Given the description of an element on the screen output the (x, y) to click on. 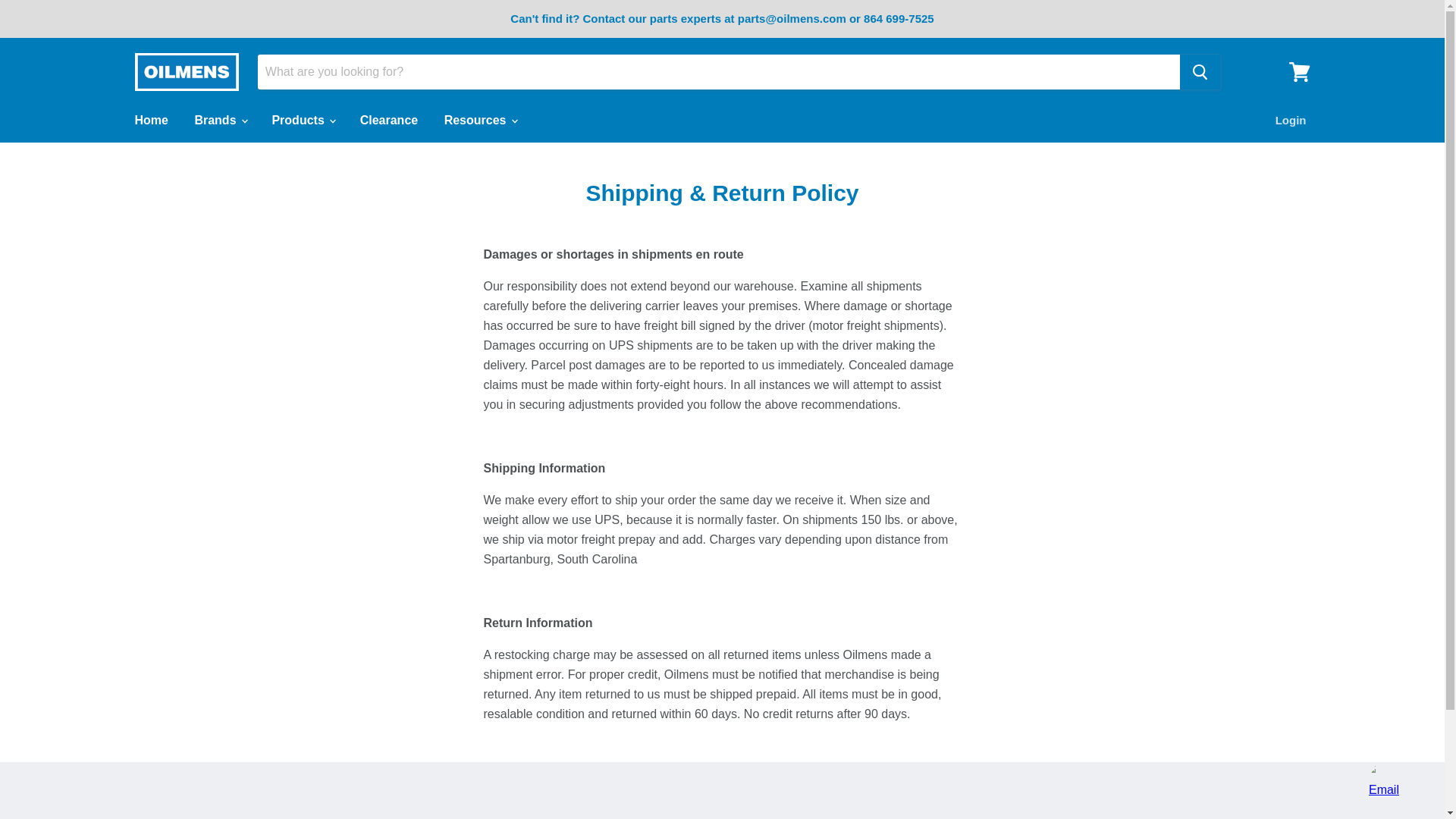
Products (302, 120)
Brands (220, 120)
View cart (1299, 71)
Home (150, 120)
